Given the description of an element on the screen output the (x, y) to click on. 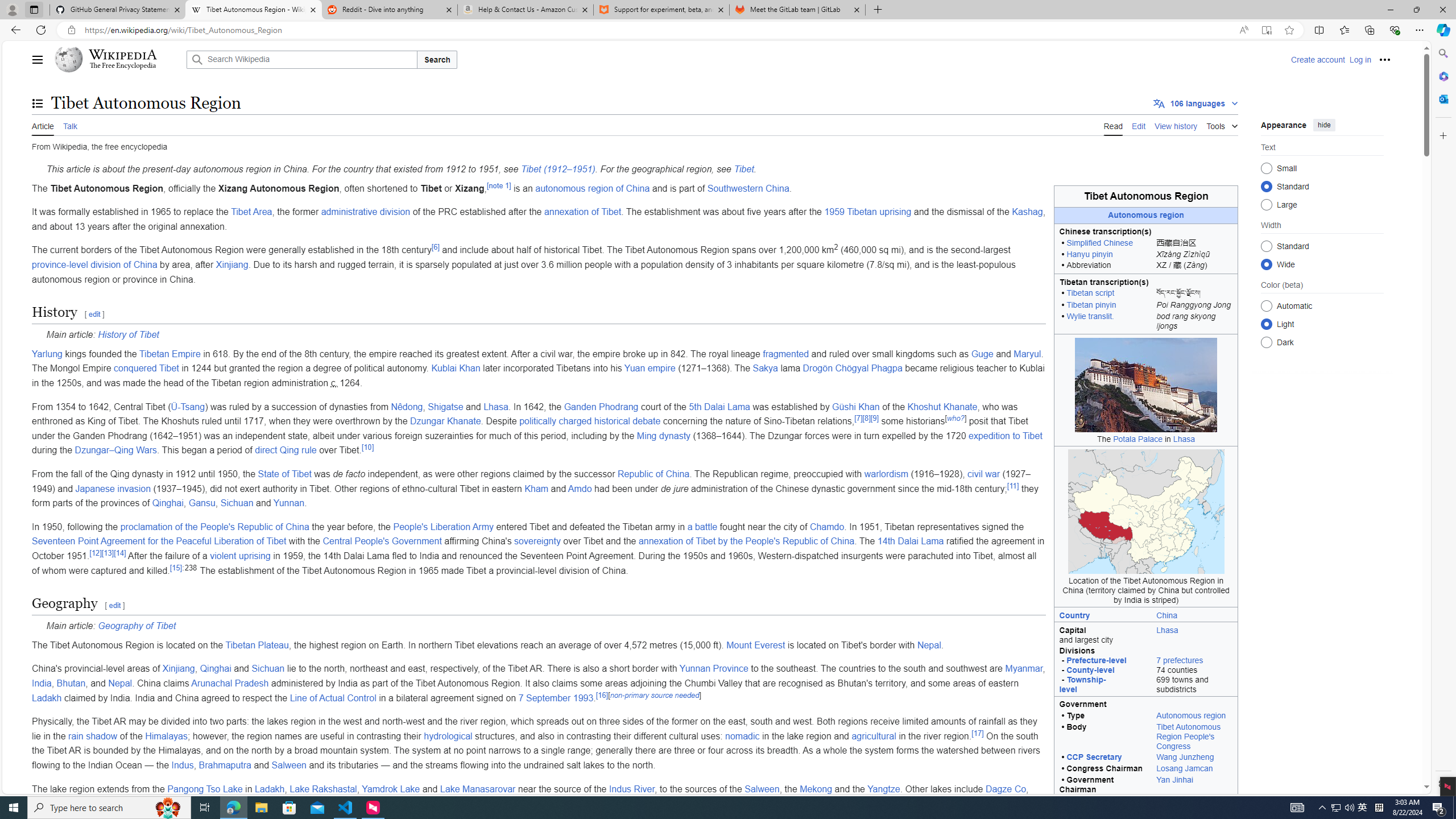
Yan Jinhai (1174, 779)
hide (1324, 124)
Dark (1266, 341)
7 prefectures (1180, 660)
[6] (434, 247)
Tibetan Empire (169, 353)
hydrological (448, 735)
Geography of Tibet (136, 625)
rain shadow (92, 735)
Meet the GitLab team | GitLab (797, 9)
Poi Ranggyong Jong (1194, 305)
GitHub General Privacy Statement - GitHub Docs (117, 9)
